Given the description of an element on the screen output the (x, y) to click on. 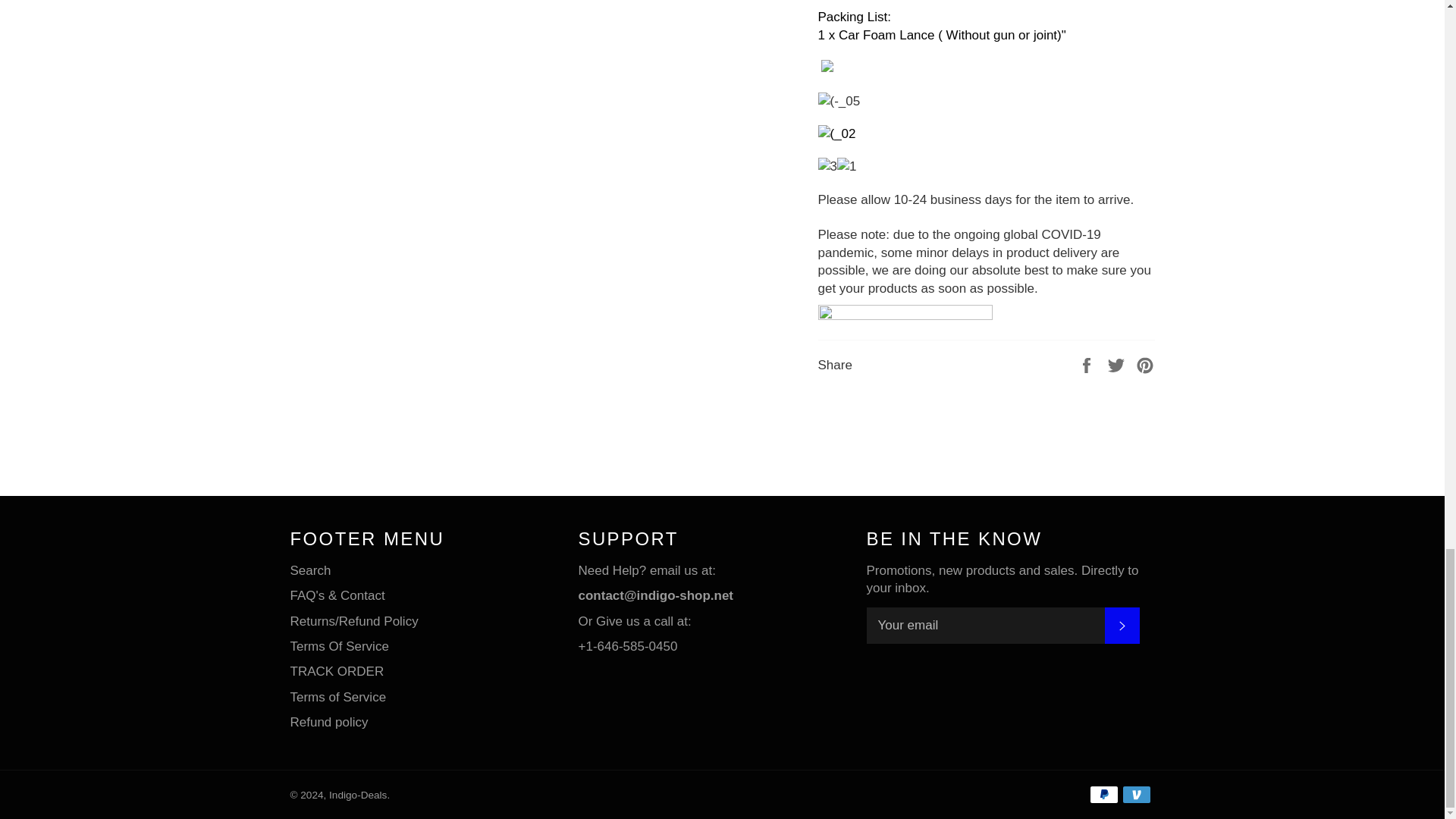
Tweet on Twitter (1117, 364)
Pin on Pinterest (1144, 364)
Share on Facebook (1088, 364)
